Given the description of an element on the screen output the (x, y) to click on. 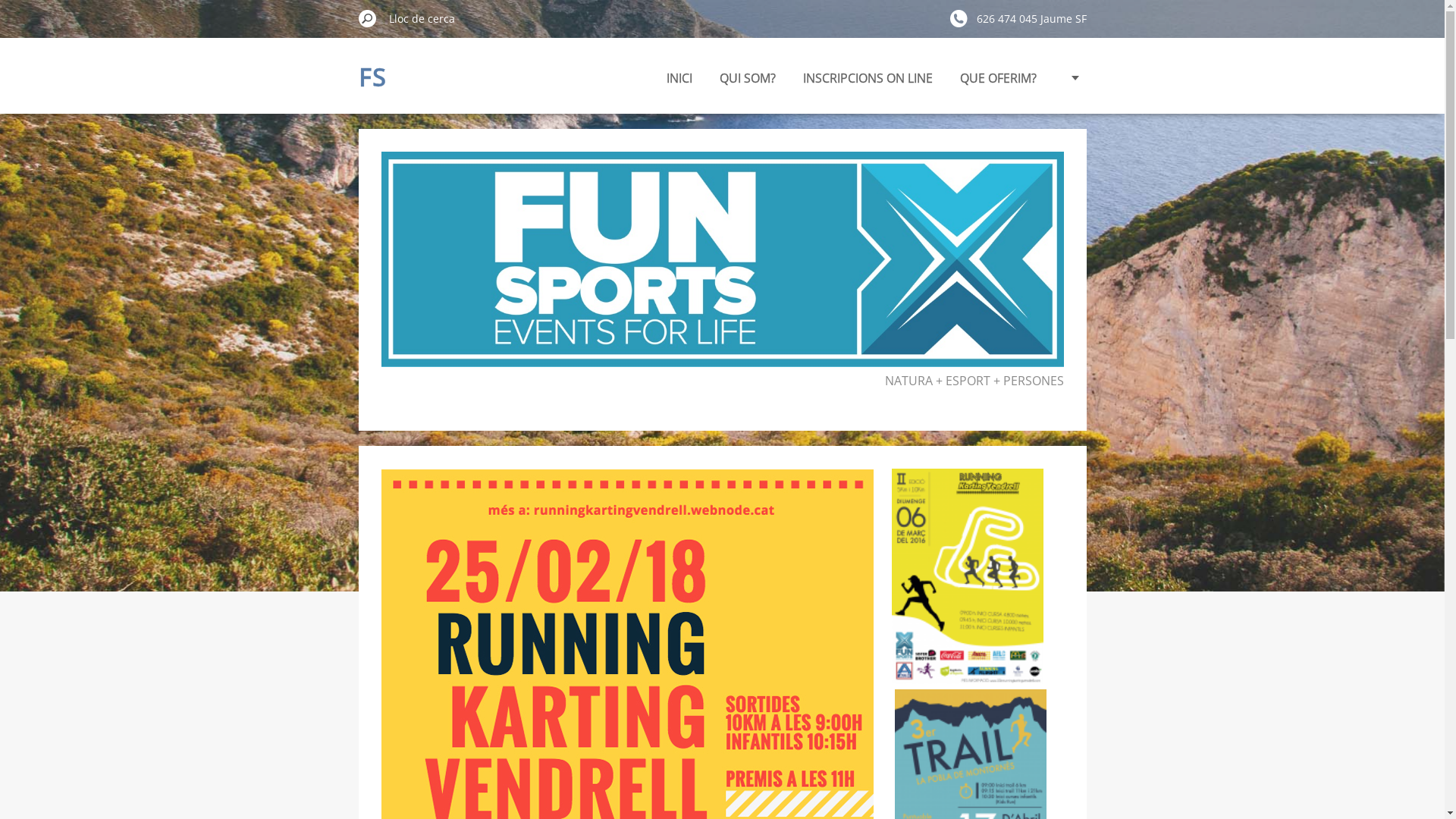
Cerca Element type: text (366, 17)
INICI Element type: text (678, 75)
QUE OFERIM? Element type: text (997, 75)
QUI SOM? Element type: text (746, 75)
INSCRIPCIONS ON LINE Element type: text (867, 75)
